Given the description of an element on the screen output the (x, y) to click on. 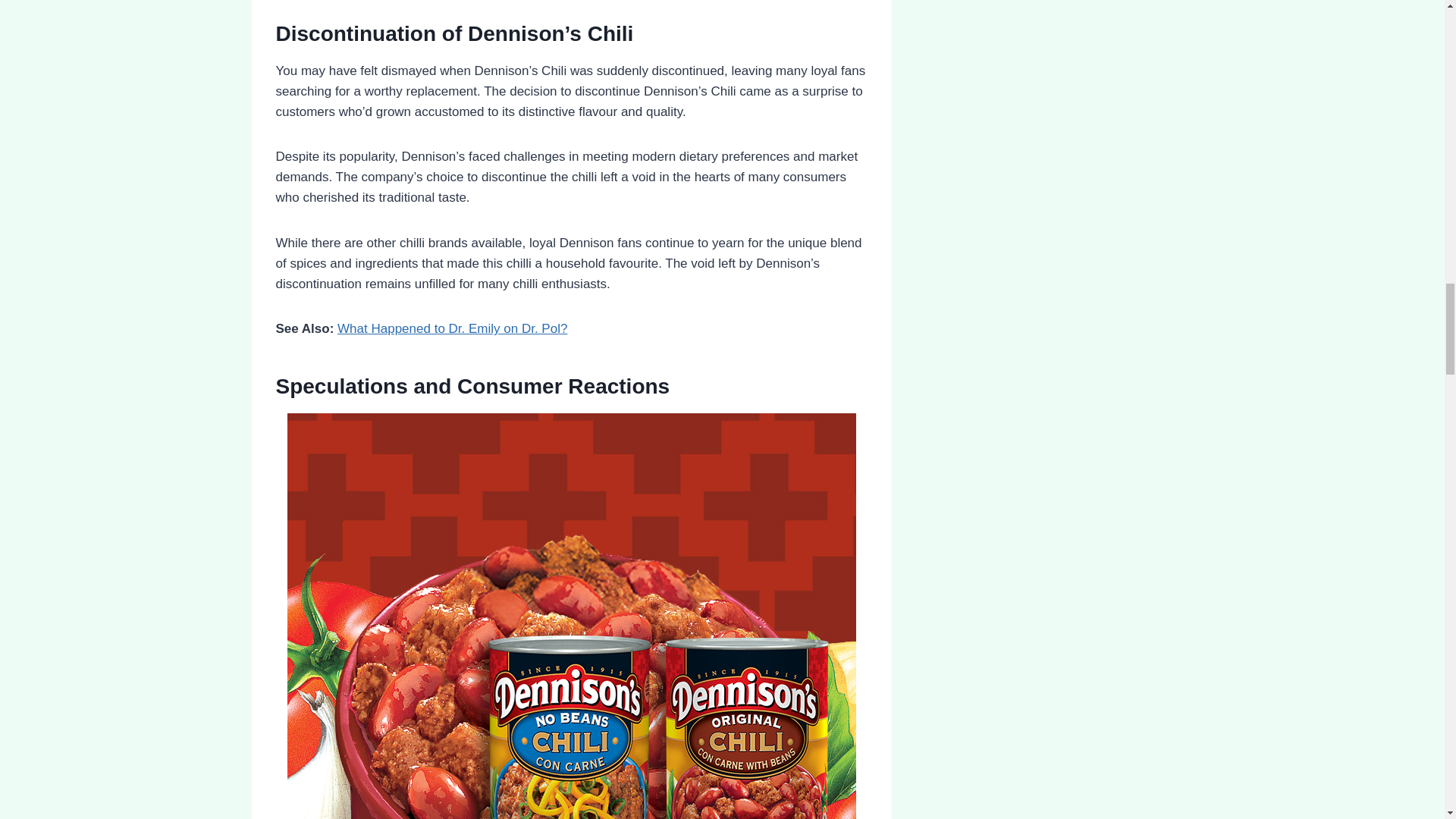
What Happened to Dr. Emily on Dr. Pol? (452, 328)
